Given the description of an element on the screen output the (x, y) to click on. 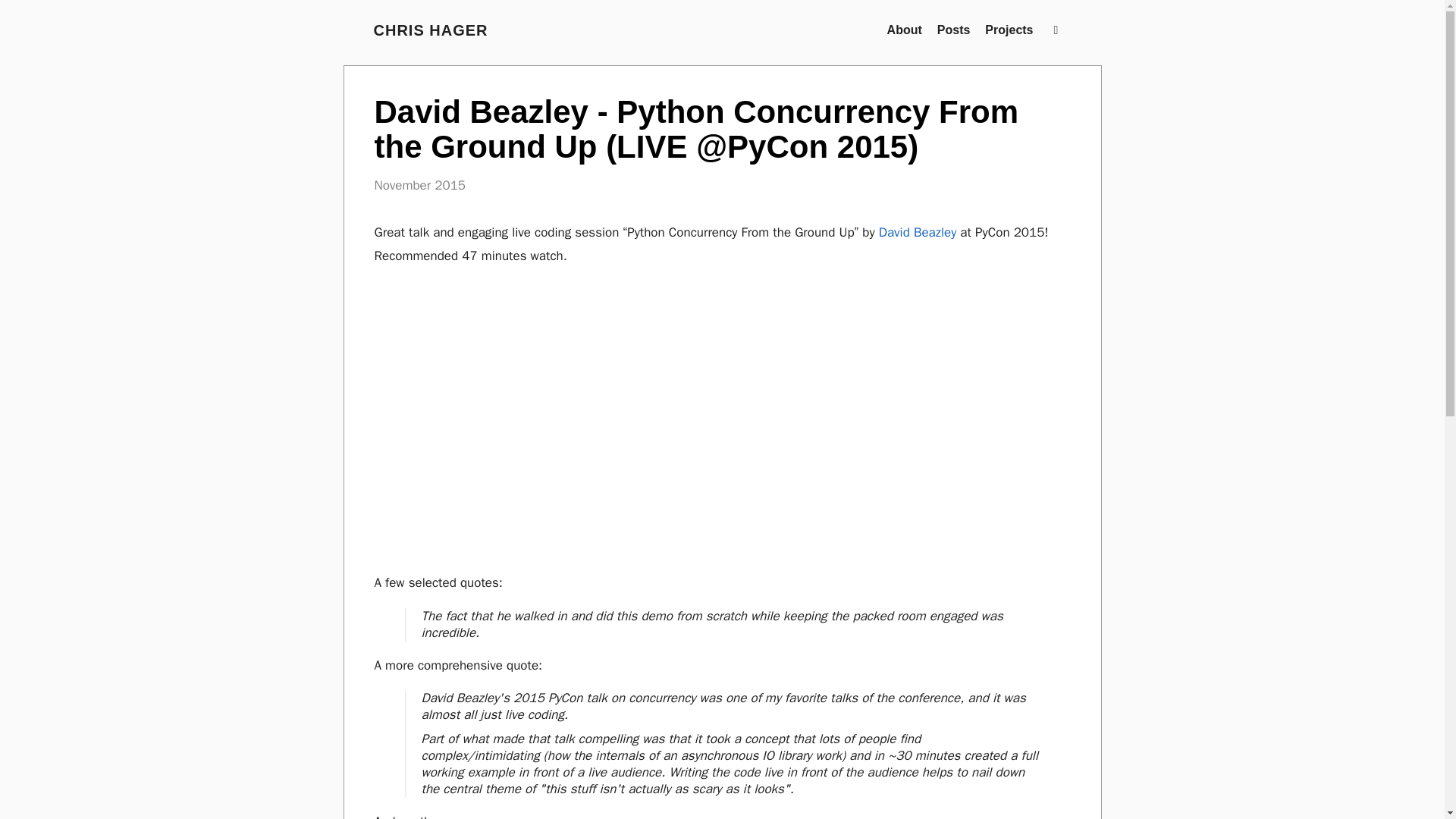
Posts (954, 29)
CHRIS HAGER (429, 30)
David Beazley (917, 232)
Projects (1008, 29)
About (903, 29)
